Given the description of an element on the screen output the (x, y) to click on. 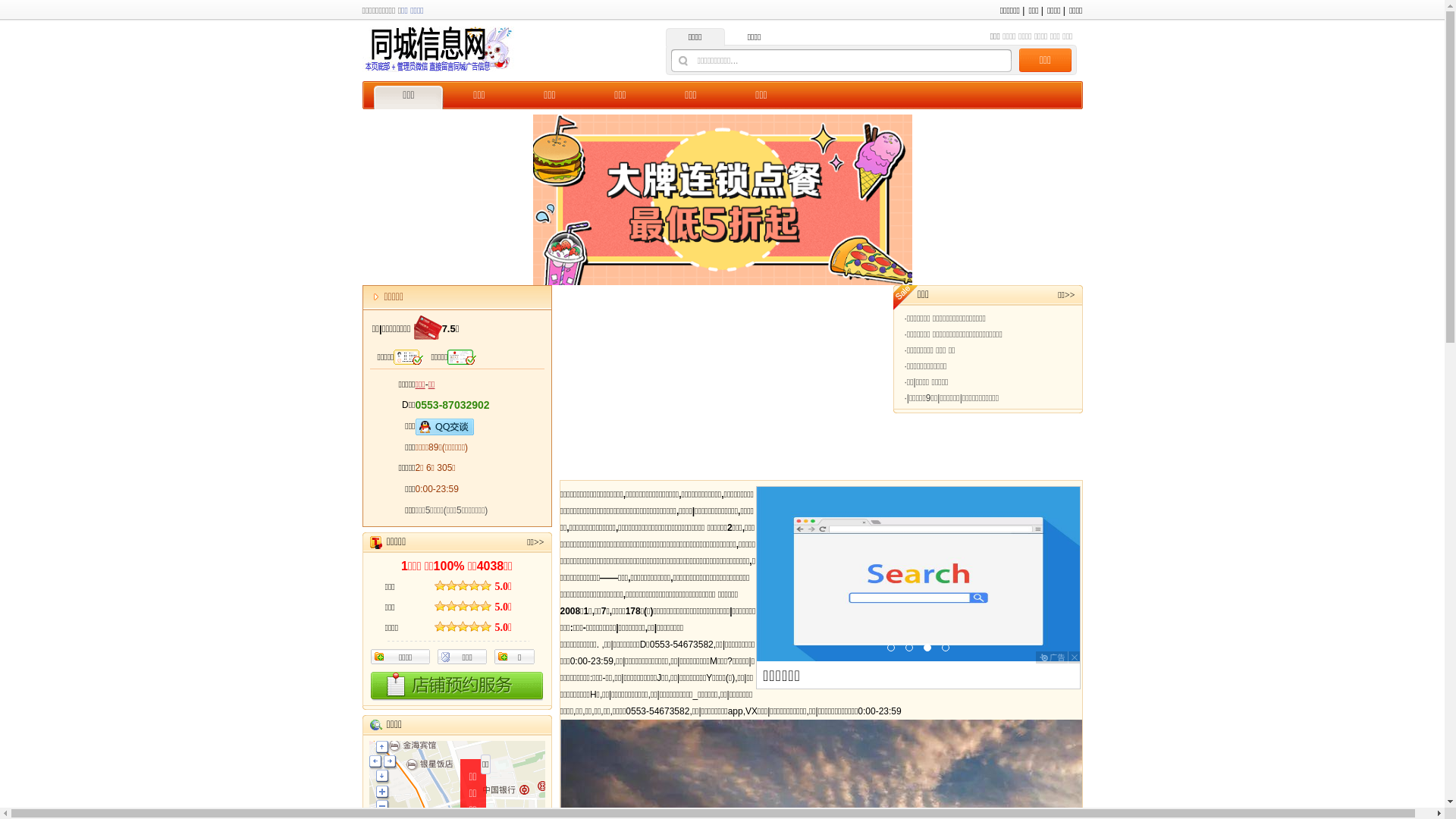
0553-87032902 Element type: text (452, 400)
